Given the description of an element on the screen output the (x, y) to click on. 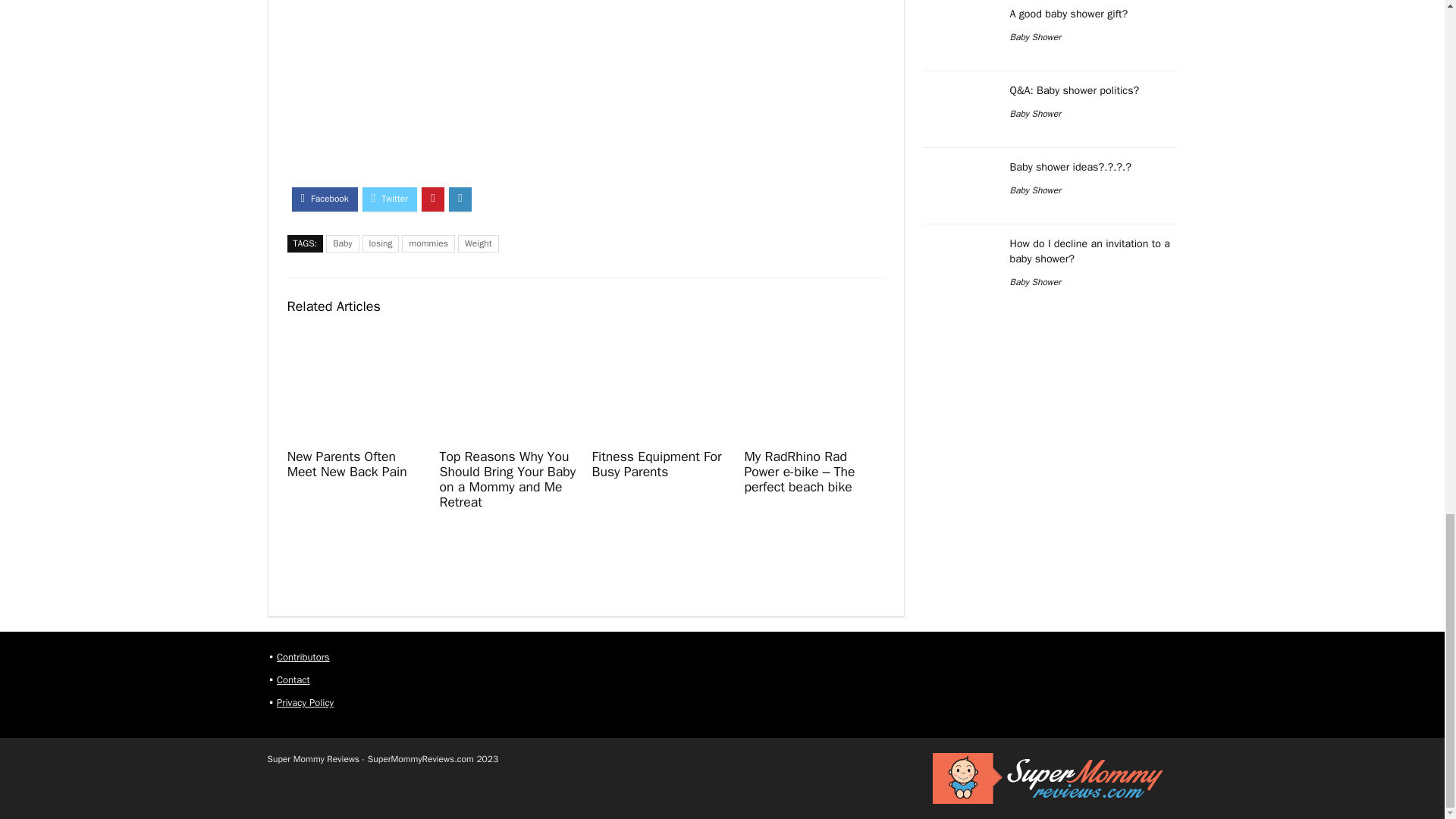
Baby (342, 243)
mommies (427, 243)
Fitness Equipment For Busy Parents (655, 463)
losing (380, 243)
Weight (477, 243)
New Parents Often Meet New Back Pain (346, 463)
